Given the description of an element on the screen output the (x, y) to click on. 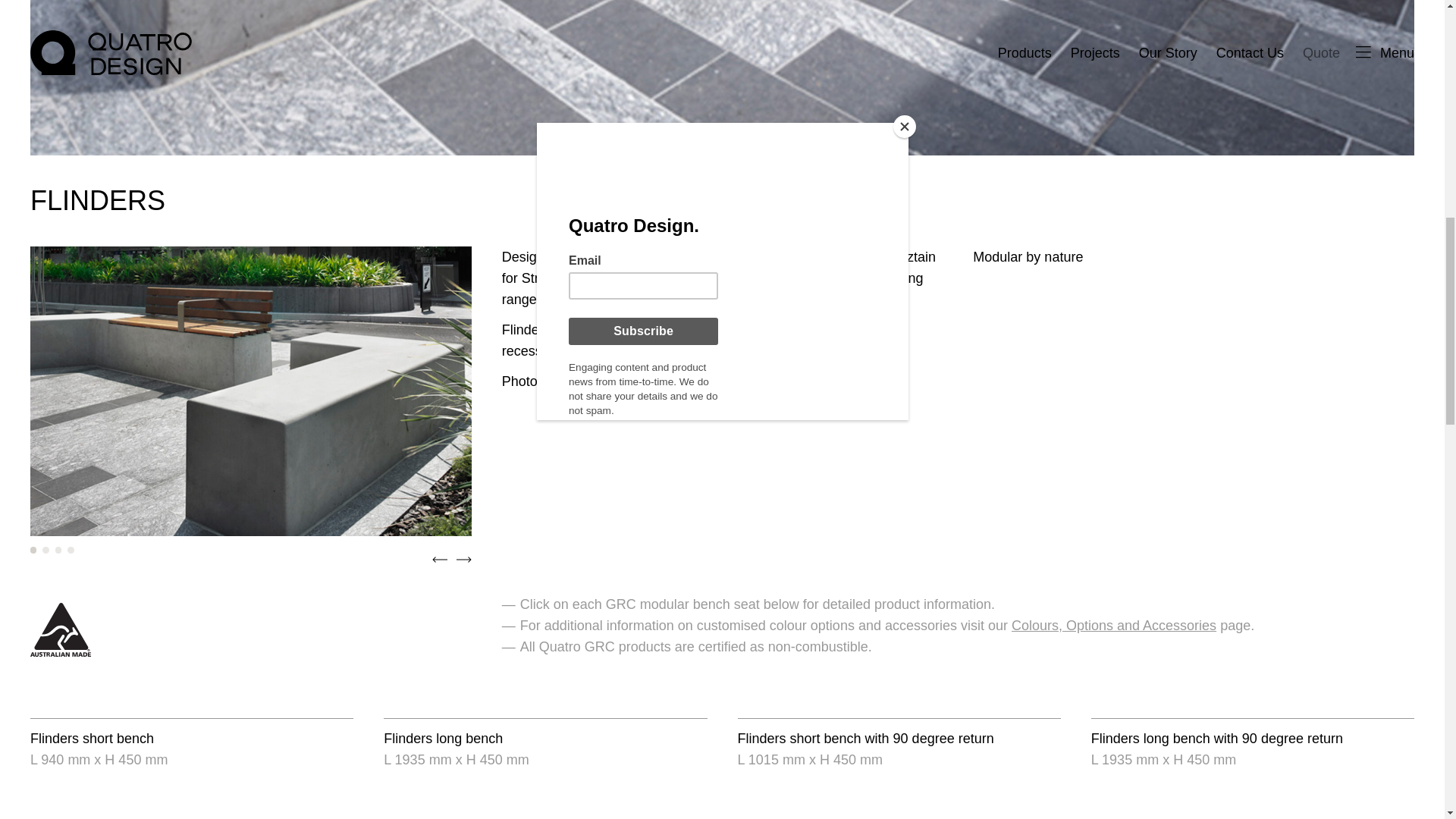
3 (58, 549)
1 (33, 549)
2 (45, 549)
Colours, Options and Accessories (1113, 625)
4 (70, 549)
